Given the description of an element on the screen output the (x, y) to click on. 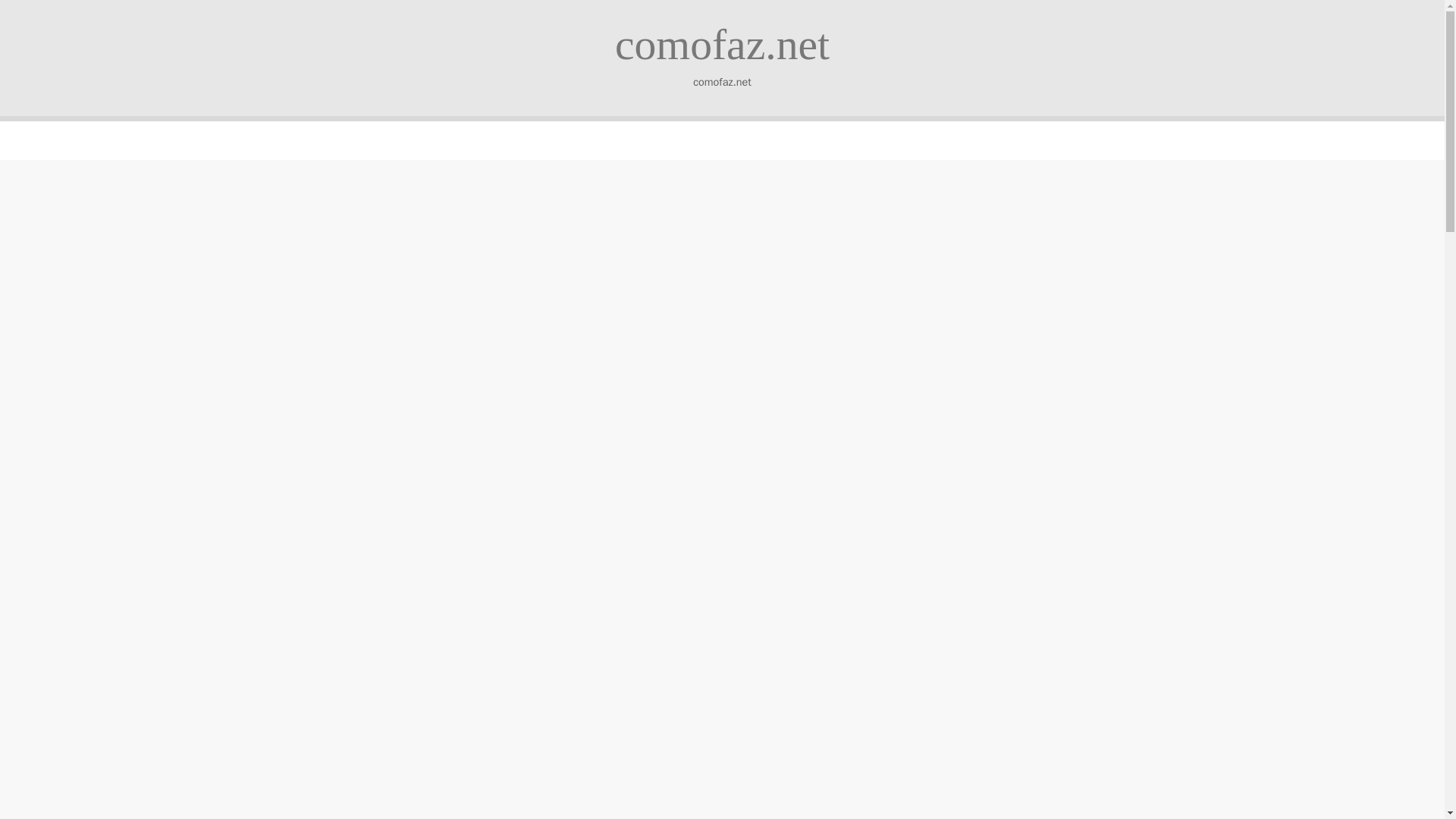
Gambling (786, 172)
comofaz.net (721, 43)
